Given the description of an element on the screen output the (x, y) to click on. 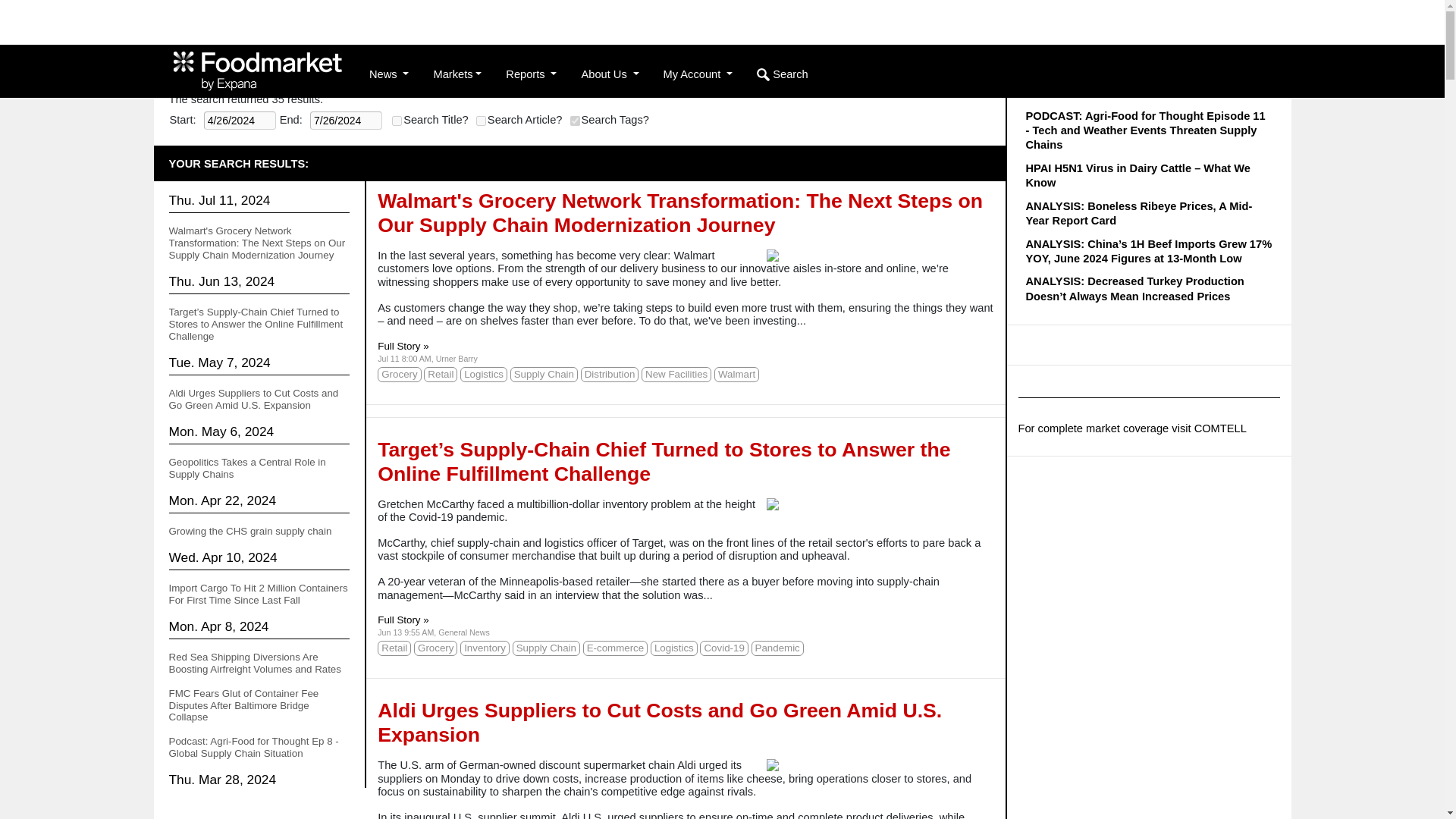
News (388, 74)
on (481, 121)
Geopolitics Takes a Central Role in Supply Chains (246, 467)
Markets (456, 74)
About Us (609, 74)
on (574, 121)
on (396, 121)
Reports (531, 74)
My Account (697, 74)
